Given the description of an element on the screen output the (x, y) to click on. 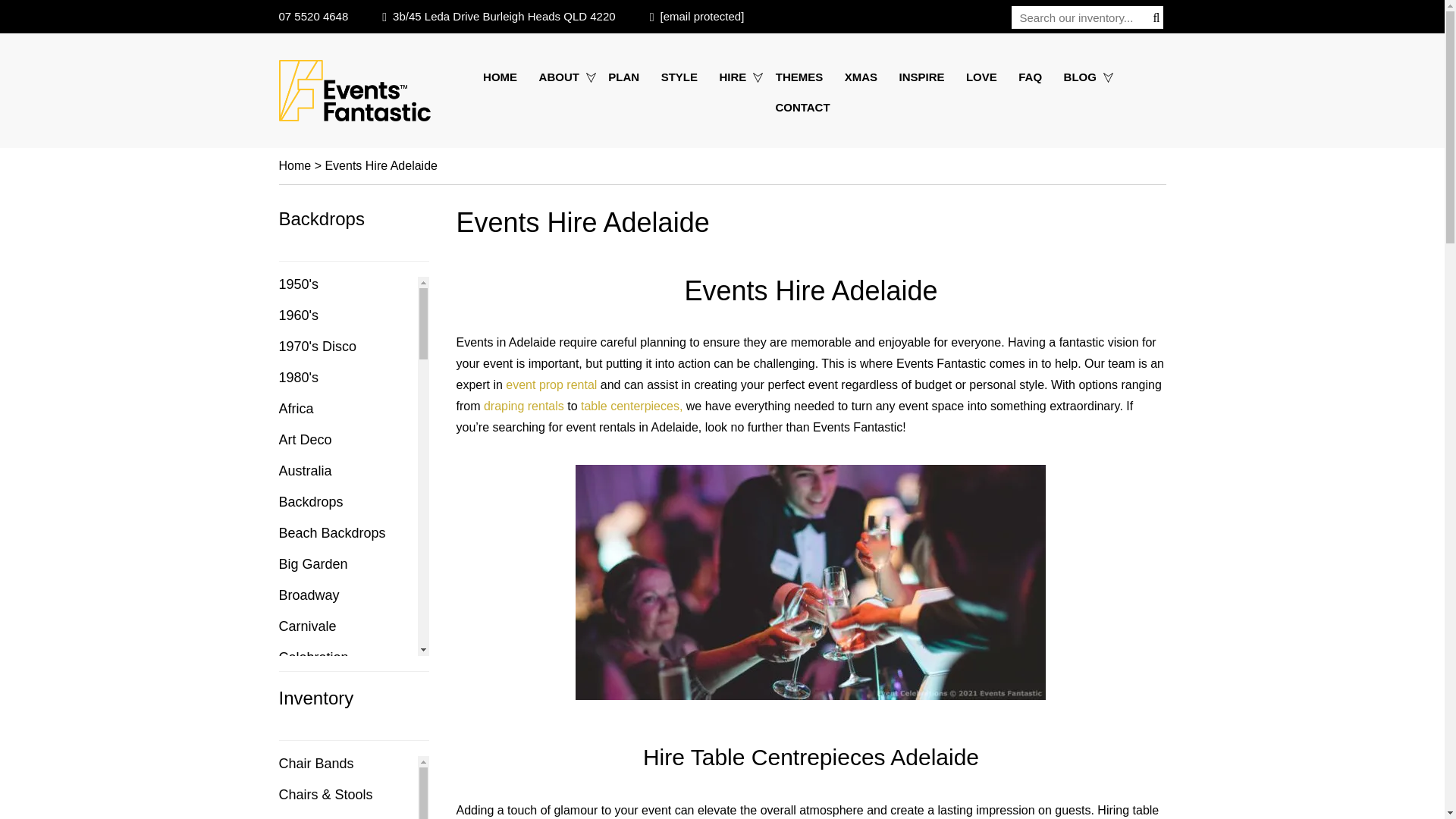
Plan (622, 77)
07 5520 4648 (314, 15)
ABOUT (562, 77)
Hire (736, 77)
HIRE (736, 77)
HOME (504, 77)
STYLE (679, 77)
Style (679, 77)
PLAN (622, 77)
Home (504, 77)
ABOUT (562, 77)
